Given the description of an element on the screen output the (x, y) to click on. 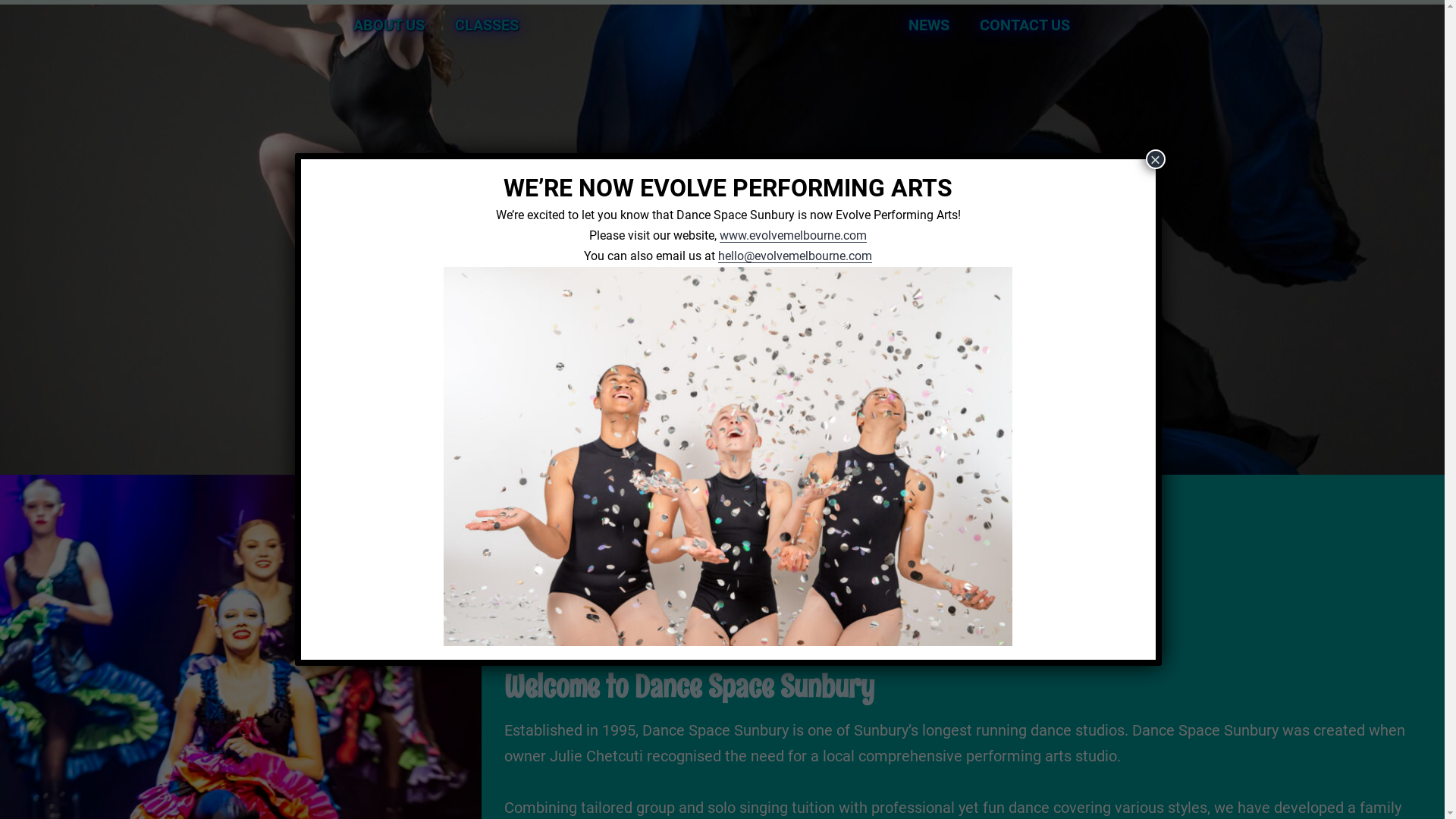
www.evolvemelbourne.com Element type: text (792, 235)
NEWS Element type: text (928, 24)
CLASSES Element type: text (490, 24)
hello@evolvemelbourne.com Element type: text (795, 255)
ABOUT US Element type: text (388, 24)
CONTACT US Element type: text (1024, 24)
